Given the description of an element on the screen output the (x, y) to click on. 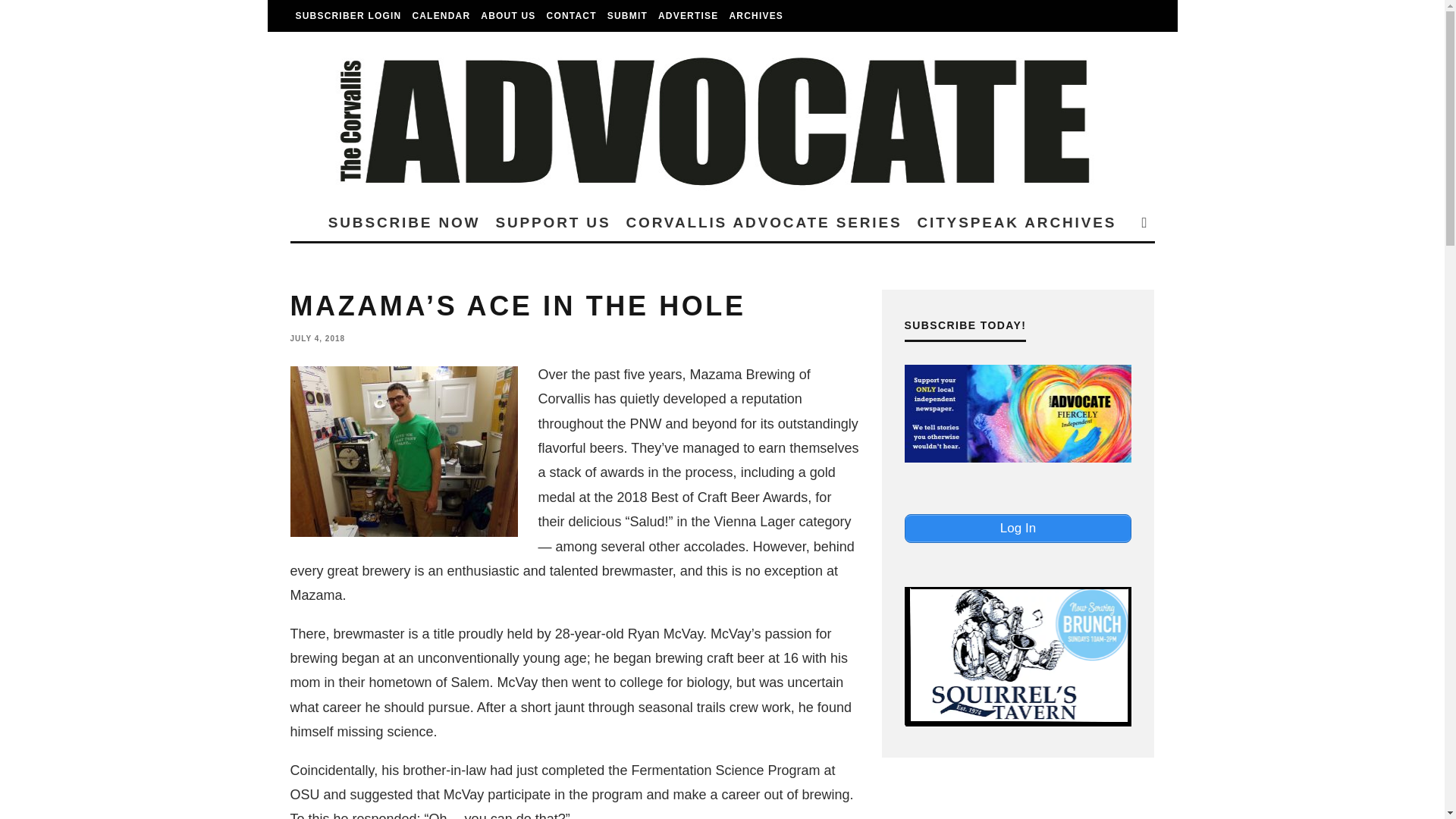
Log In (1017, 528)
SUPPORT US (552, 221)
SUBSCRIBER LOGIN (347, 15)
CALENDAR (441, 15)
ABOUT US (508, 15)
CORVALLIS ADVOCATE SERIES (762, 221)
CONTACT (571, 15)
ADVERTISE (687, 15)
SUBMIT (627, 15)
CITYSPEAK ARCHIVES (1016, 221)
SUBSCRIBE NOW (403, 221)
ARCHIVES (756, 15)
